Given the description of an element on the screen output the (x, y) to click on. 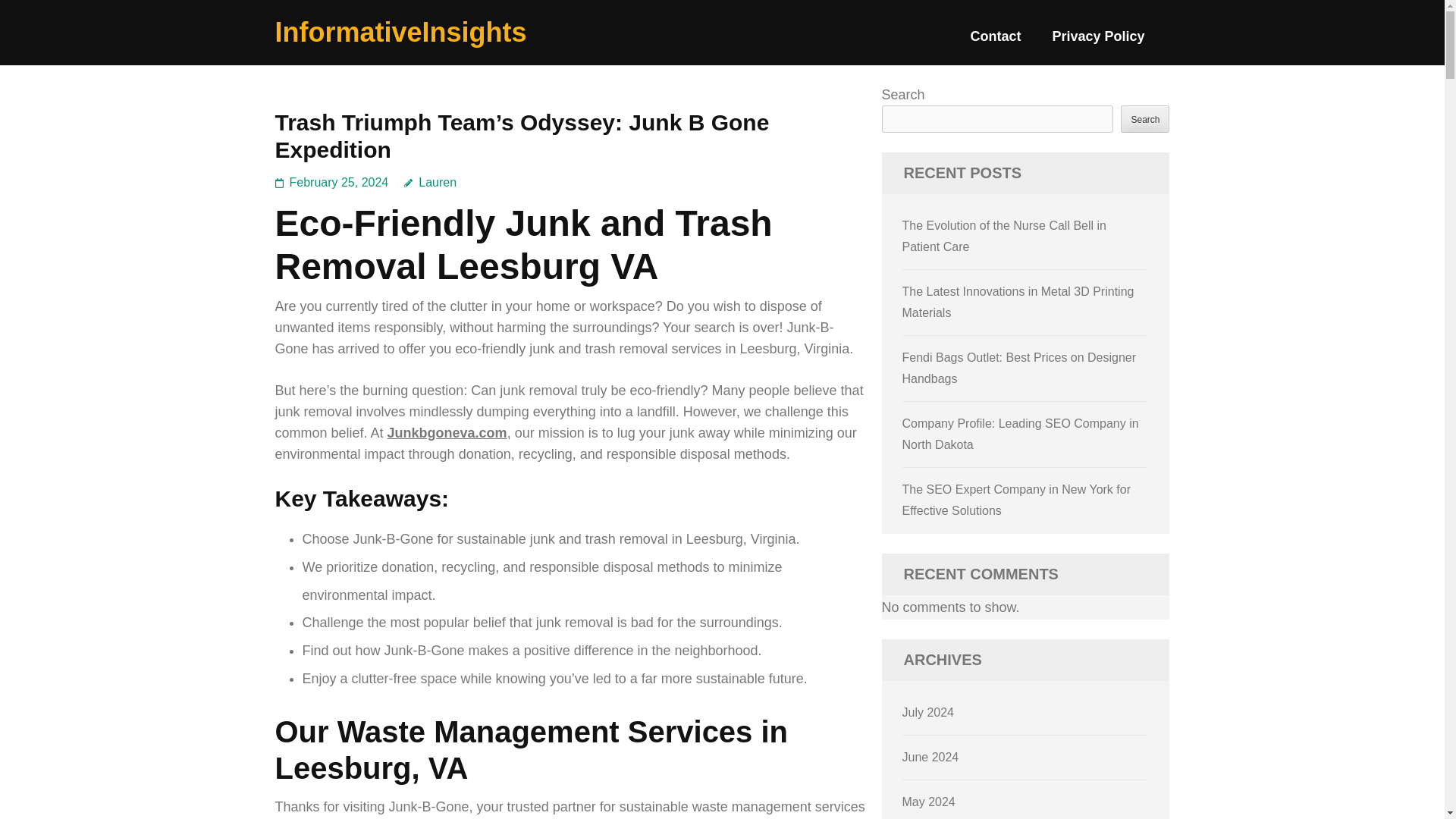
InformativeInsights (400, 31)
May 2024 (928, 801)
Junkbgoneva.com (446, 432)
Privacy Policy (1097, 42)
Lauren (430, 182)
Company Profile: Leading SEO Company in North Dakota (1020, 433)
July 2024 (928, 712)
Search (1145, 118)
The Latest Innovations in Metal 3D Printing Materials (1018, 302)
June 2024 (930, 757)
Contact (994, 42)
February 25, 2024 (338, 182)
Fendi Bags Outlet: Best Prices on Designer Handbags (1019, 367)
The SEO Expert Company in New York for Effective Solutions (1016, 499)
The Evolution of the Nurse Call Bell in Patient Care (1004, 236)
